Given the description of an element on the screen output the (x, y) to click on. 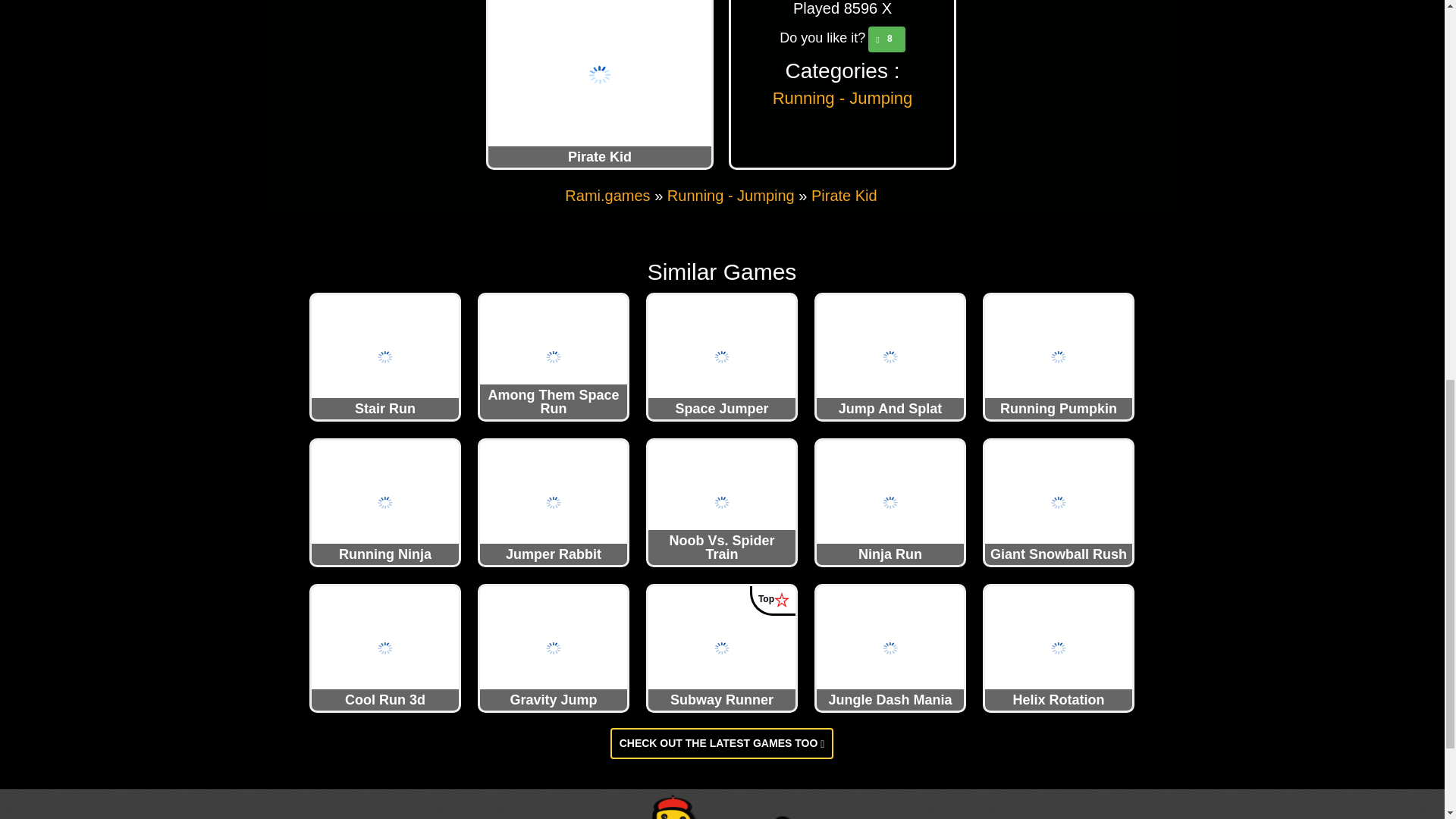
Among Them Space Run (553, 356)
Space Jumper (720, 356)
Ninja Run (889, 501)
Pirate Kid (843, 195)
Running Ninja (384, 501)
Noob Vs. Spider Train (720, 501)
8 (885, 39)
Stair Run (384, 356)
Jump And Splat (889, 356)
Giant Snowball Rush (1058, 501)
Jumper Rabbit (553, 501)
Rami.games (606, 195)
Running - Jumping (842, 97)
Running Pumpkin (1058, 356)
Running - Jumping (730, 195)
